Given the description of an element on the screen output the (x, y) to click on. 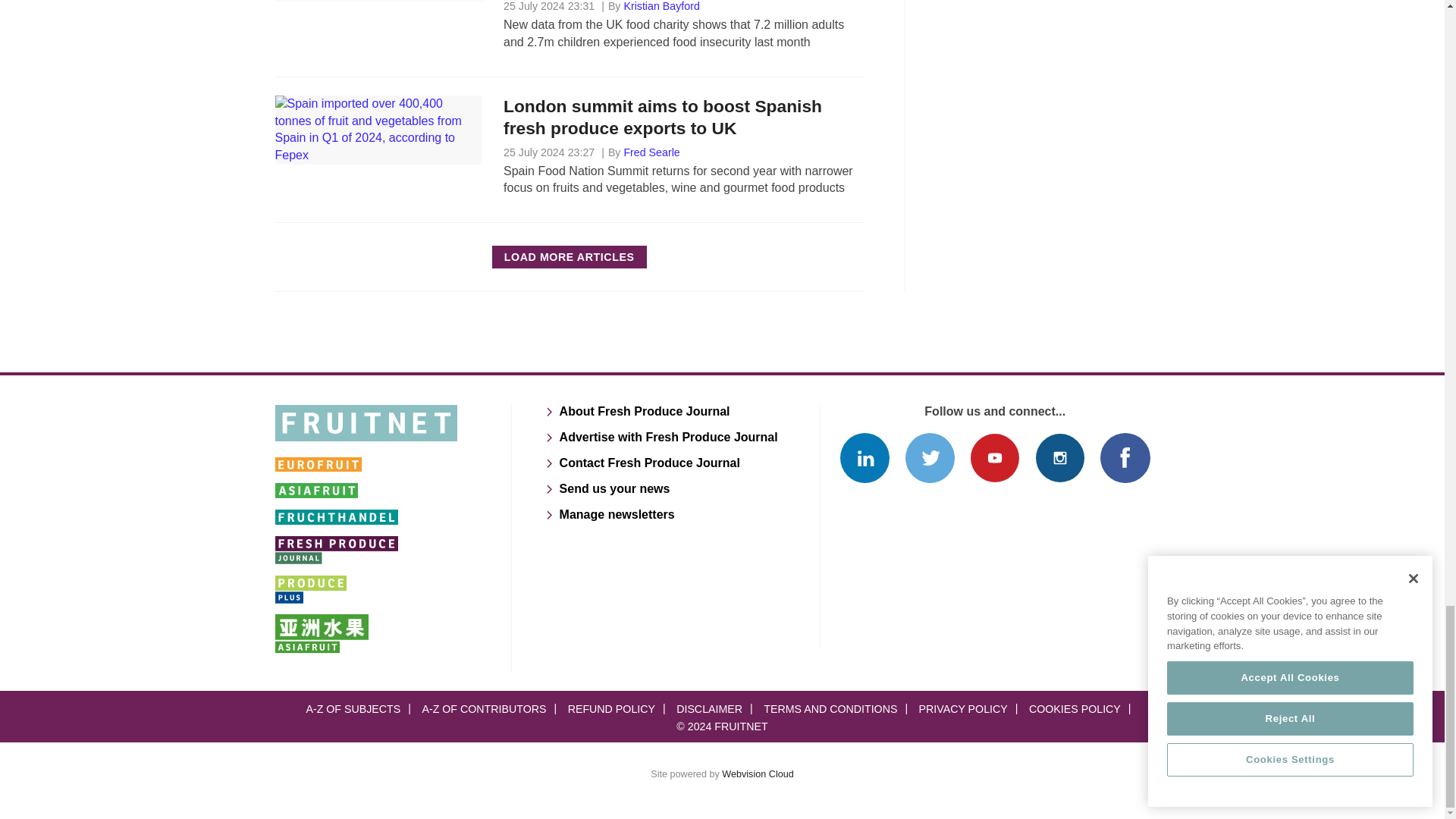
Follow us on Instagram (1059, 457)
Connect with us on Youtube (994, 457)
Connect with us on Twitter (930, 457)
Follow us on Facebook (1125, 457)
Follow us on Linked In (864, 457)
